Given the description of an element on the screen output the (x, y) to click on. 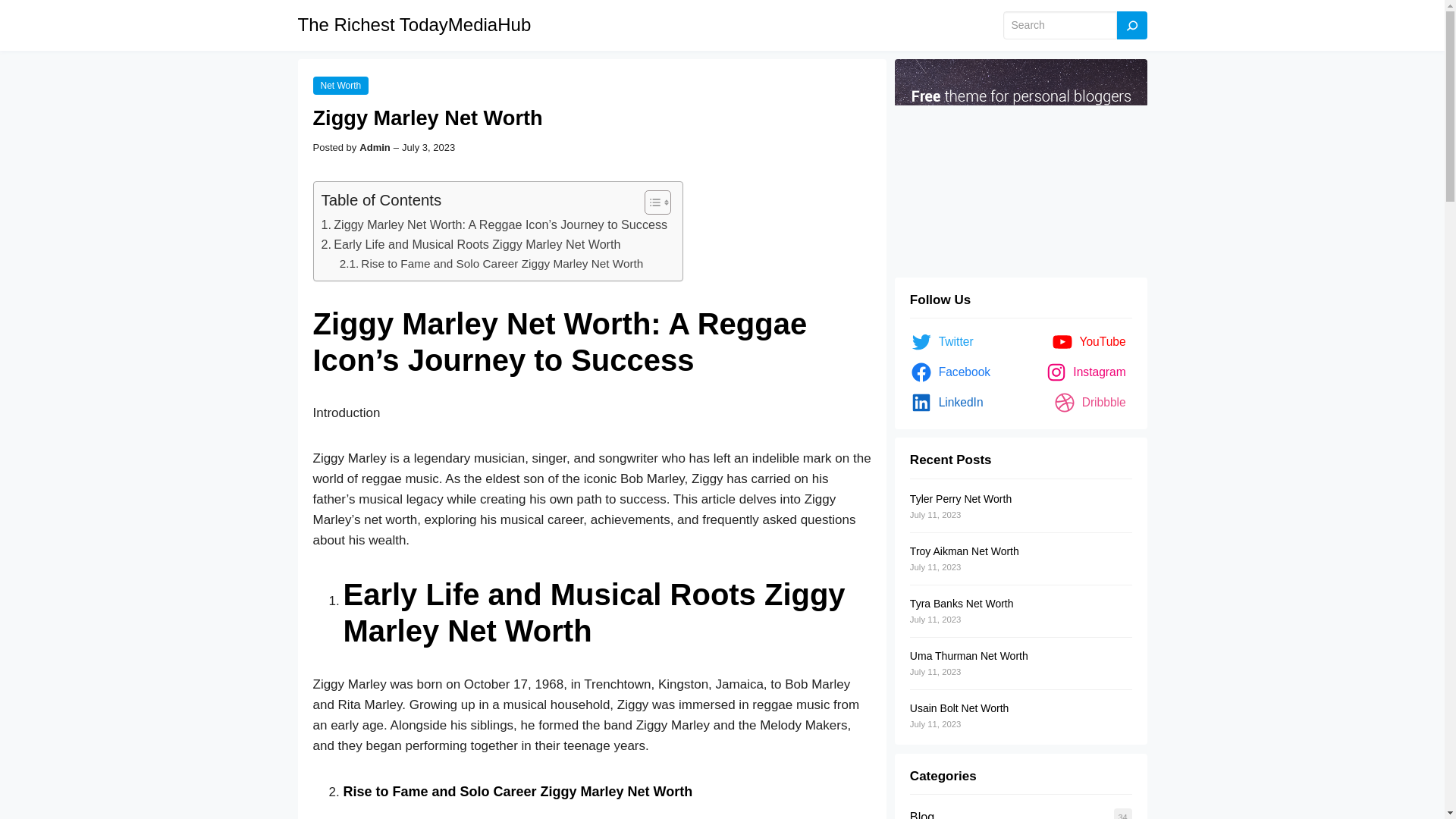
LinkedIn (950, 402)
Uma Thurman Net Worth (968, 655)
Tyra Banks Net Worth (961, 603)
Tyler Perry Net Worth (960, 499)
Facebook (952, 372)
Rise to Fame and Solo Career Ziggy Marley Net Worth (491, 263)
Troy Aikman Net Worth (964, 551)
Blog (922, 814)
Dribbble (1092, 402)
YouTube (1091, 341)
